Given the description of an element on the screen output the (x, y) to click on. 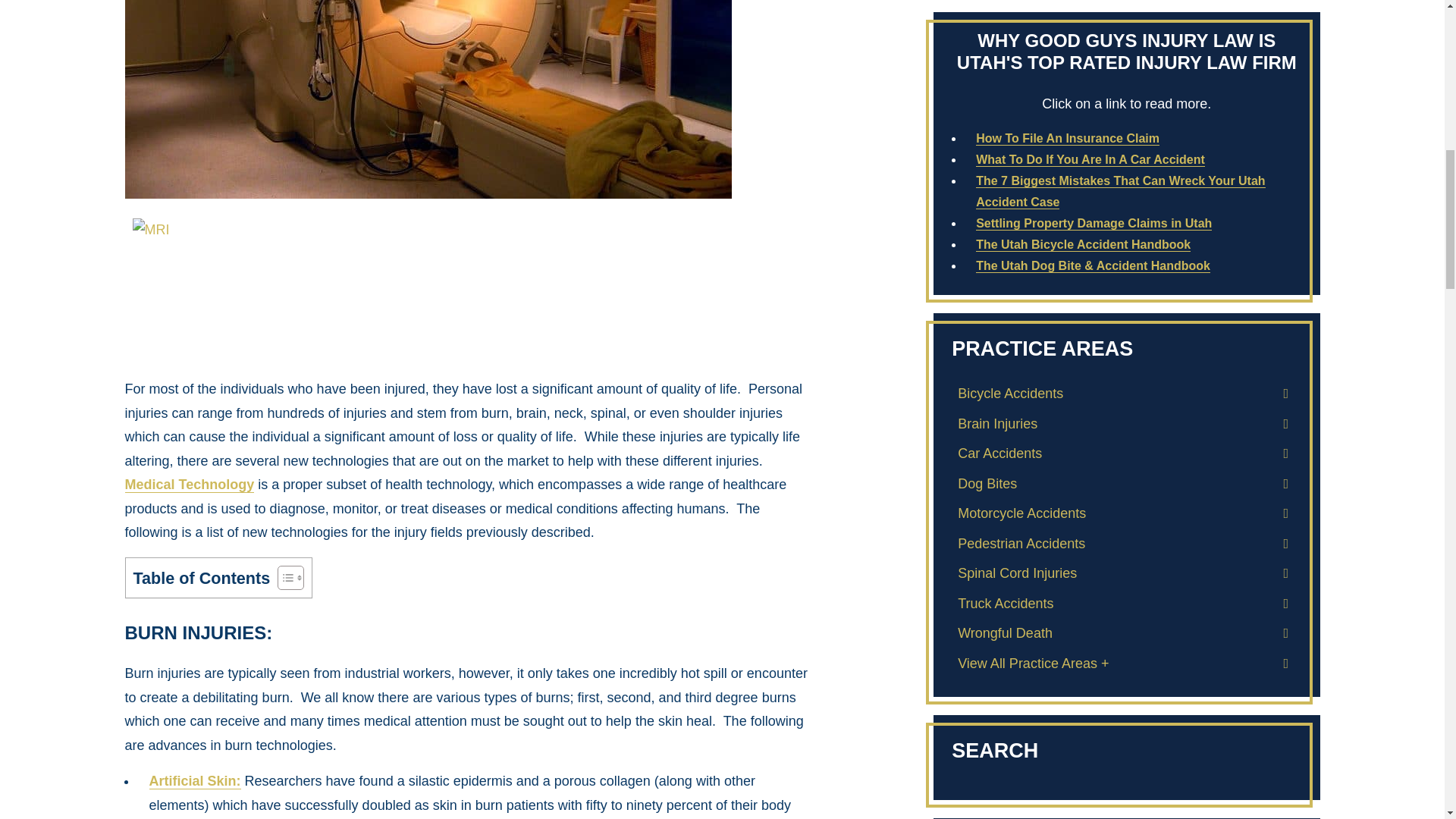
Medical Technology (188, 484)
Skin (194, 781)
Request Free Consultation (1126, 667)
